Given the description of an element on the screen output the (x, y) to click on. 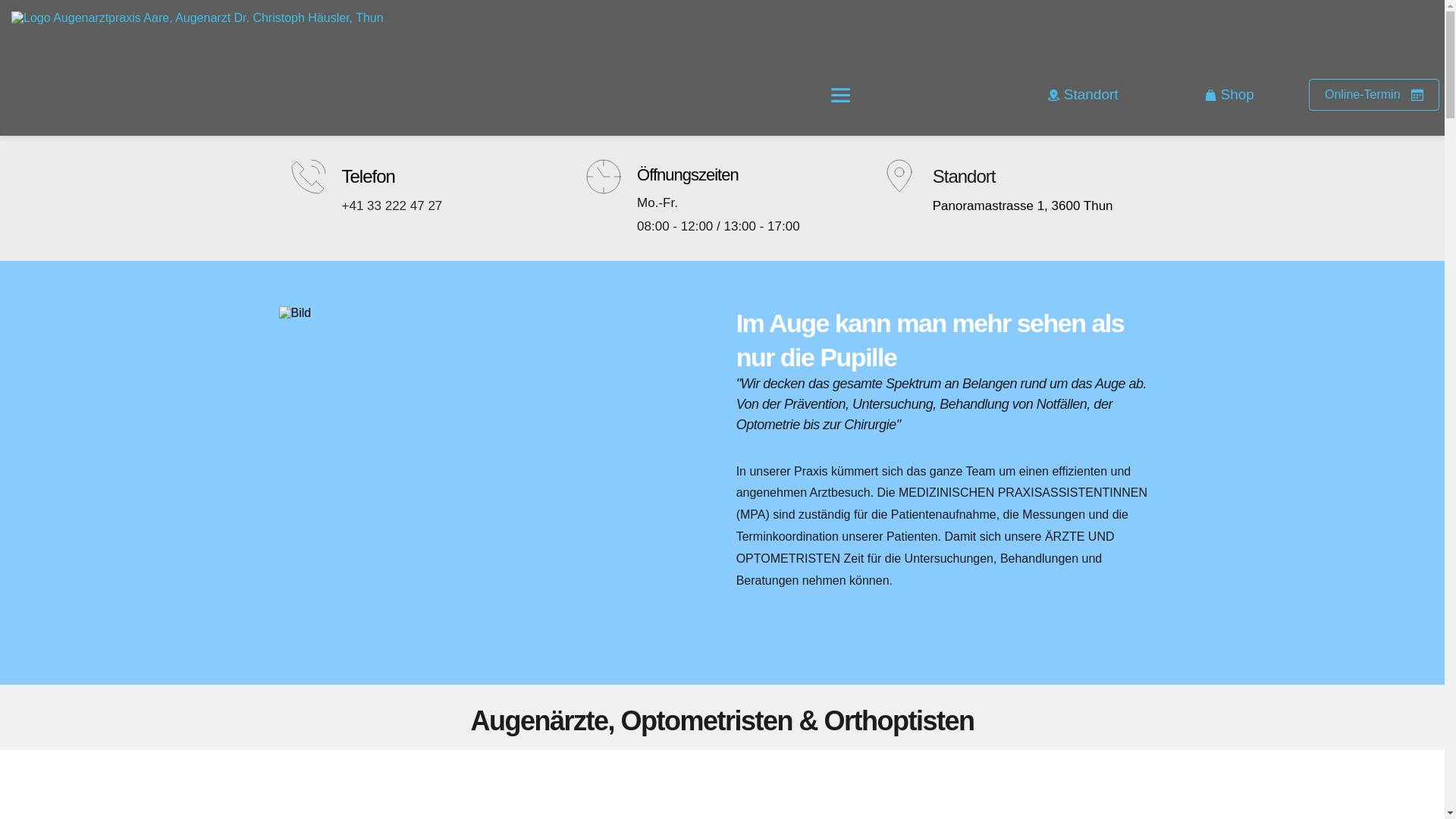
Shop Element type: text (1229, 94)
+41 33 222 47 27 Element type: text (391, 205)
Online-Termin  Element type: text (1373, 94)
Standort Element type: text (1083, 94)
Untersuchung Element type: text (892, 403)
Behandlung von Element type: text (985, 403)
